Given the description of an element on the screen output the (x, y) to click on. 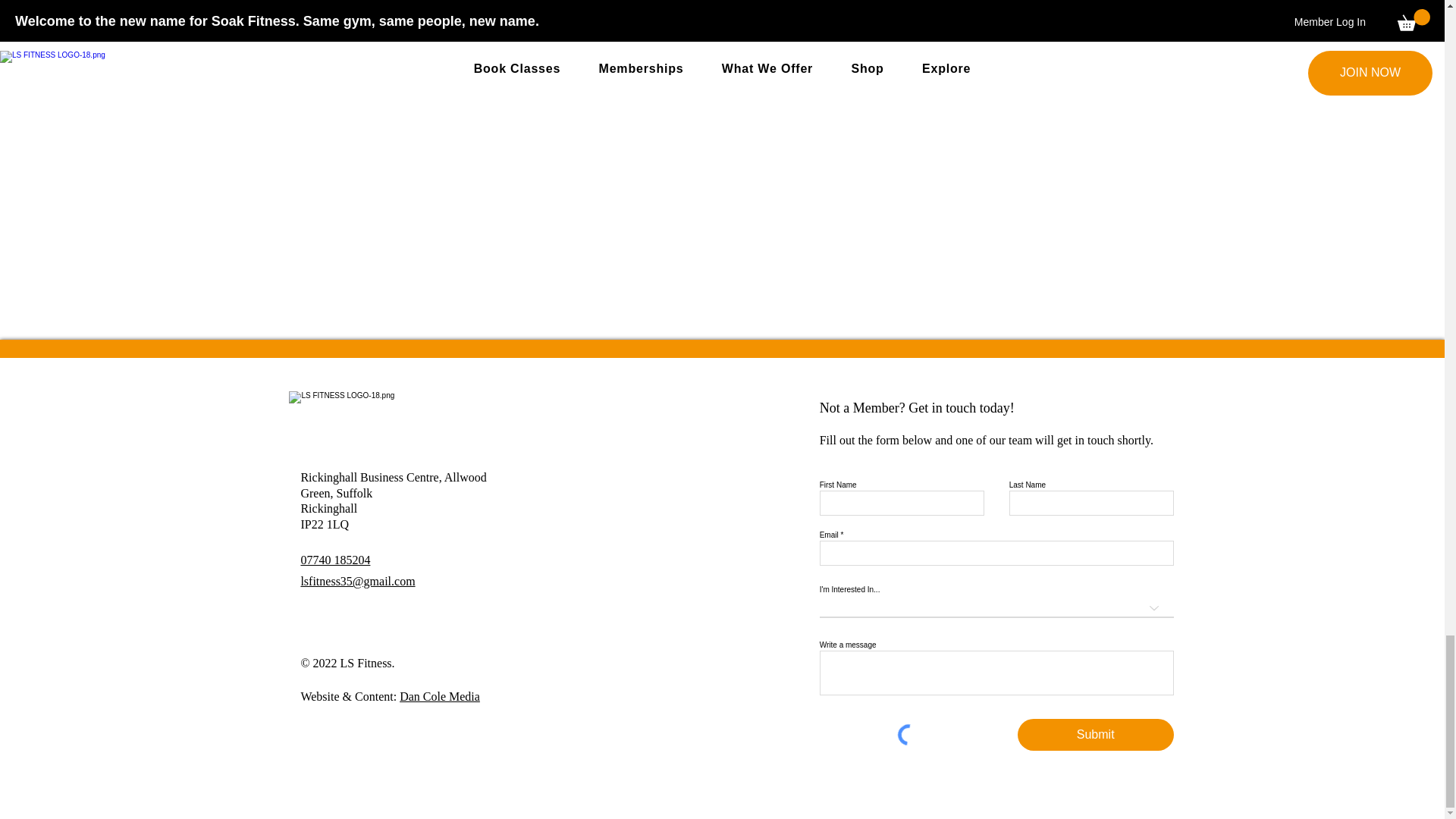
Submit (1095, 735)
07740 185204 (334, 560)
Dan Cole Media (439, 696)
